Given the description of an element on the screen output the (x, y) to click on. 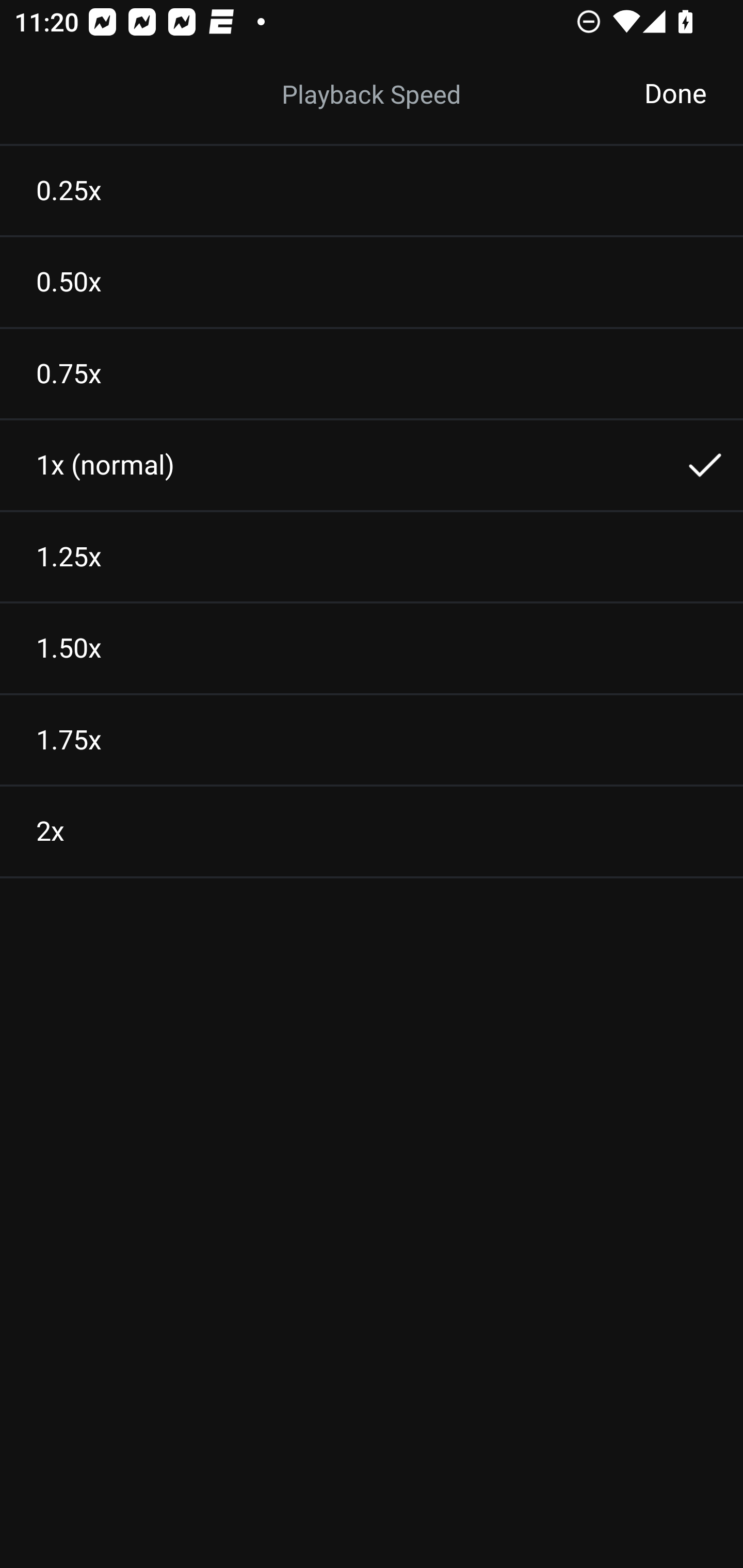
Listening (371, 93)
Done (675, 93)
0.25x (371, 190)
0.50x (371, 281)
0.75x (371, 373)
1x (normal) (371, 464)
1.25x (371, 557)
1.50x (371, 648)
1.75x (371, 739)
2x (371, 831)
